Given the description of an element on the screen output the (x, y) to click on. 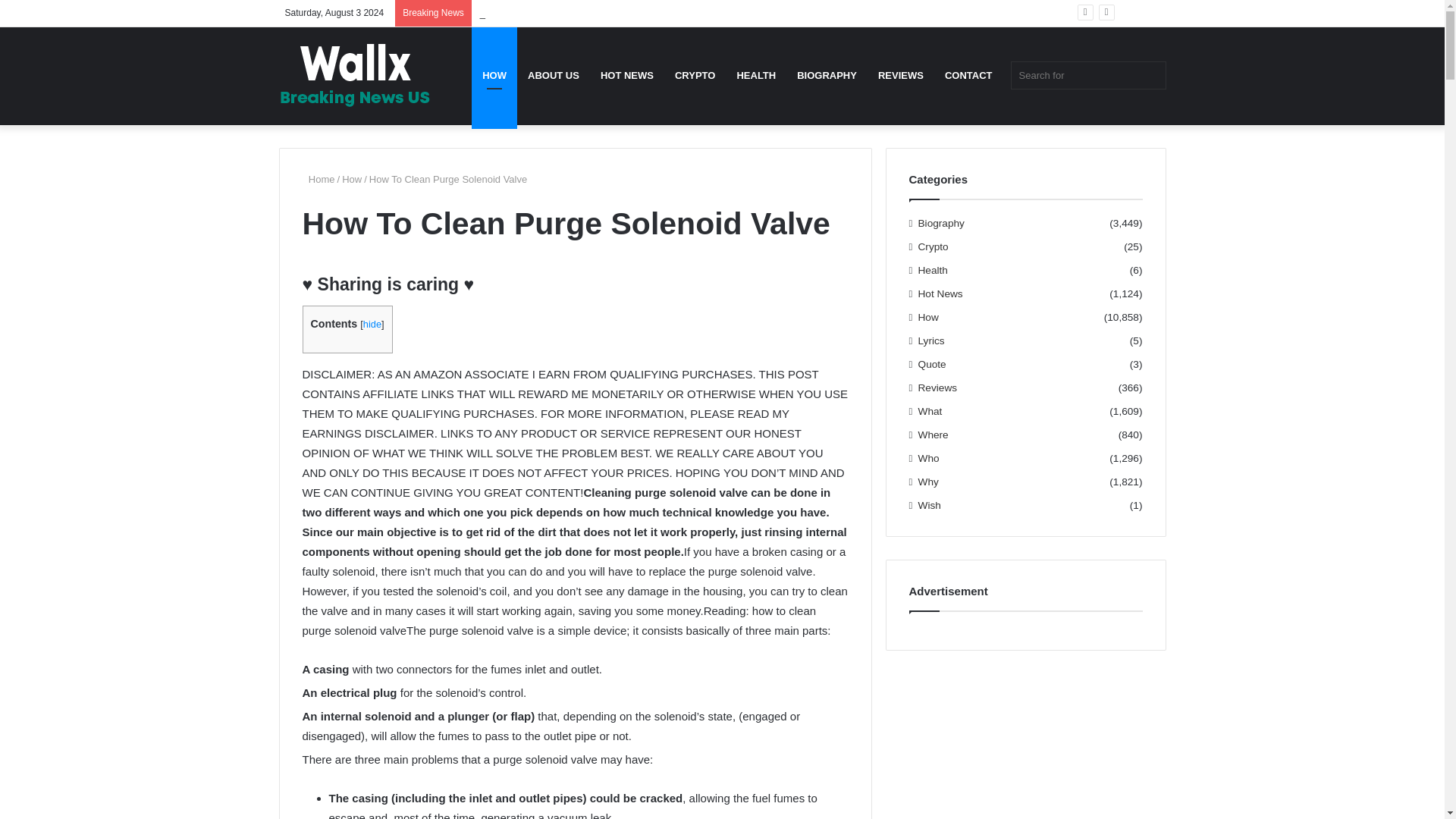
Crypto (933, 246)
Hot News (940, 293)
Renew, Soar and Run (527, 12)
Health (932, 270)
Wallx News (354, 75)
Search for (1088, 75)
Home (317, 179)
hide (371, 324)
Biography (940, 222)
How (351, 179)
